Given the description of an element on the screen output the (x, y) to click on. 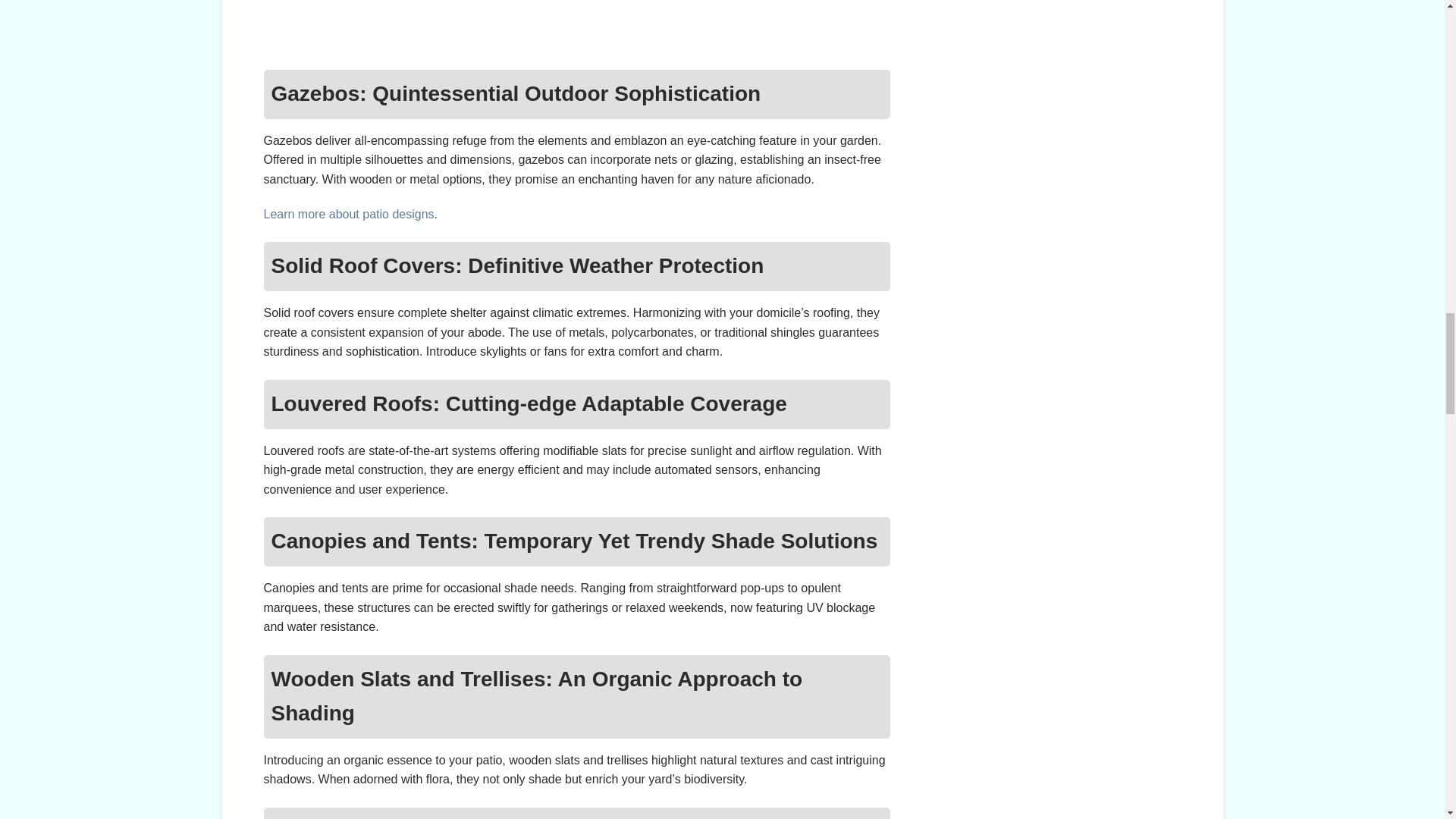
Learn more about patio designs (348, 214)
